Given the description of an element on the screen output the (x, y) to click on. 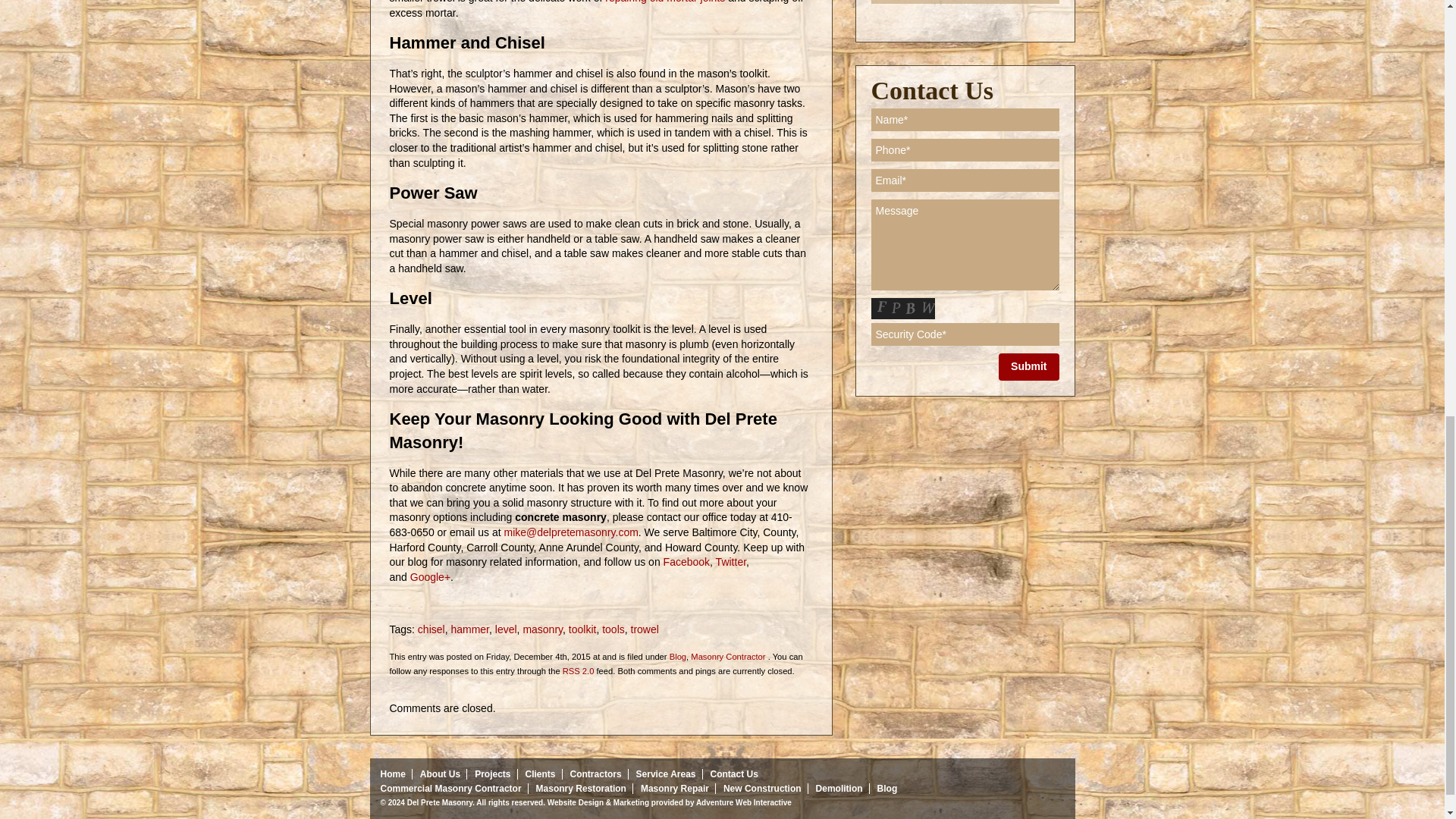
Submit (1028, 366)
tools (613, 629)
Twitter (730, 562)
level (505, 629)
toolkit (582, 629)
trowel (644, 629)
masonry (542, 629)
Masonry Contractor (727, 655)
hammer (469, 629)
chisel (431, 629)
Blog (677, 655)
RSS 2.0 (578, 670)
repairing old mortar joints (665, 2)
Facebook (686, 562)
